Given the description of an element on the screen output the (x, y) to click on. 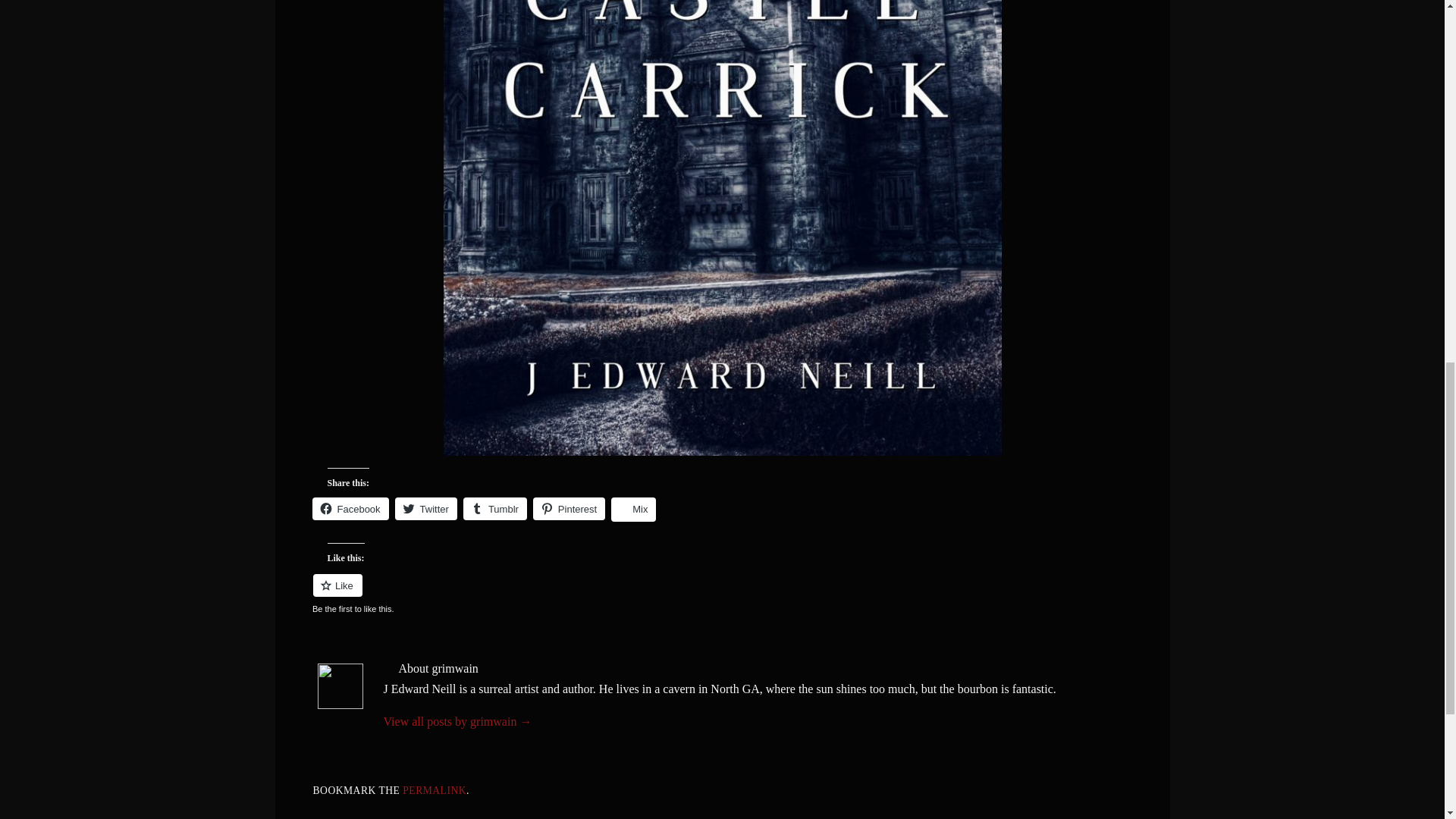
Click to share on Mix (633, 509)
Click to share on Twitter (425, 508)
Click to share on Facebook (350, 508)
Like or Reblog (722, 594)
Click to share on Tumblr (495, 508)
Click to share on Pinterest (568, 508)
Facebook (350, 508)
PERMALINK (434, 790)
Mix (633, 509)
Twitter (425, 508)
Tumblr (495, 508)
Pinterest (568, 508)
